Given the description of an element on the screen output the (x, y) to click on. 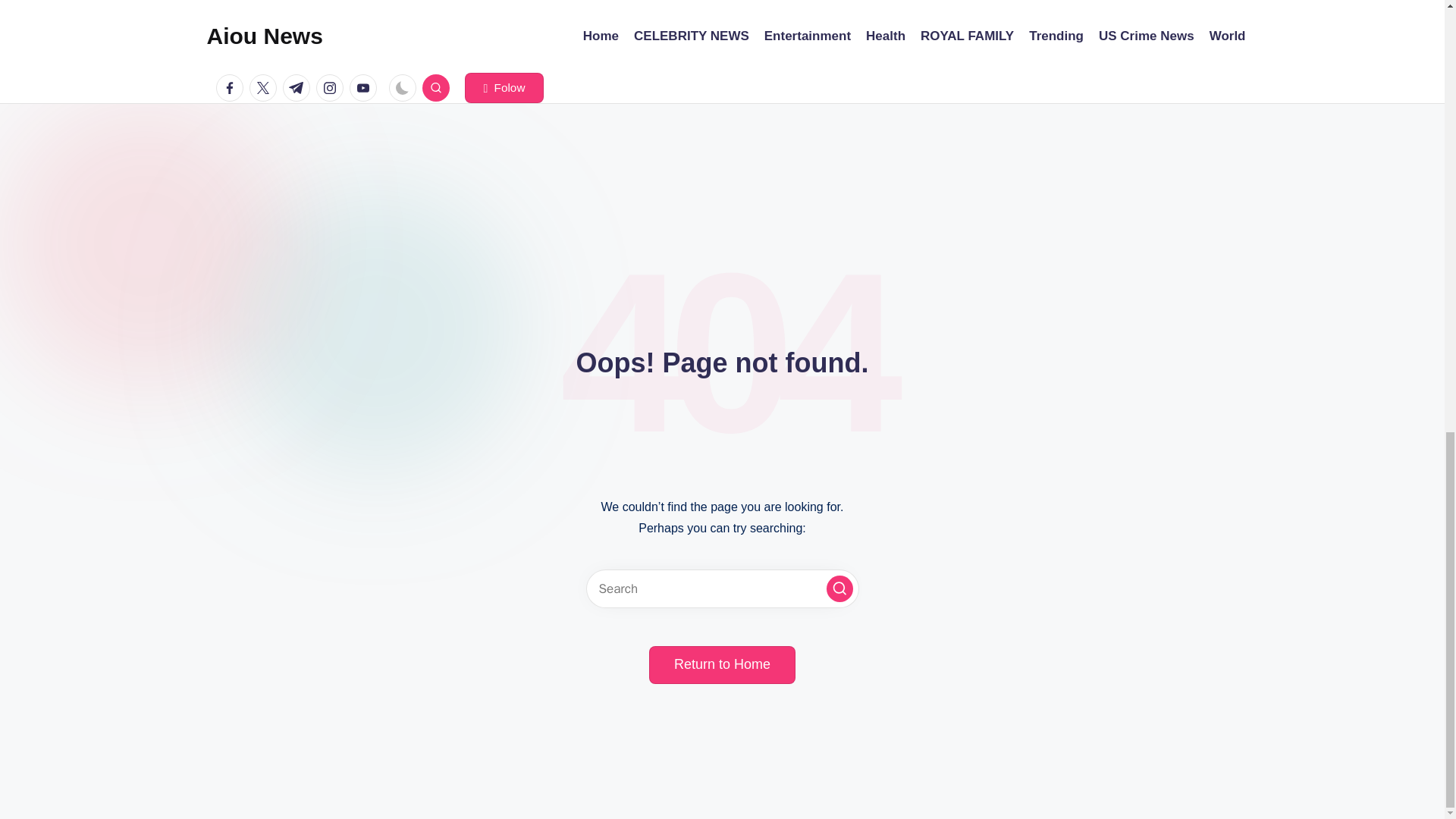
ROYAL FAMILY (966, 36)
Trending (1056, 36)
Health (885, 36)
twitter.com (265, 87)
facebook.com (231, 87)
CELEBRITY NEWS (691, 36)
US Crime News (1146, 36)
instagram.com (332, 87)
World (1227, 36)
youtube.com (365, 87)
